Given the description of an element on the screen output the (x, y) to click on. 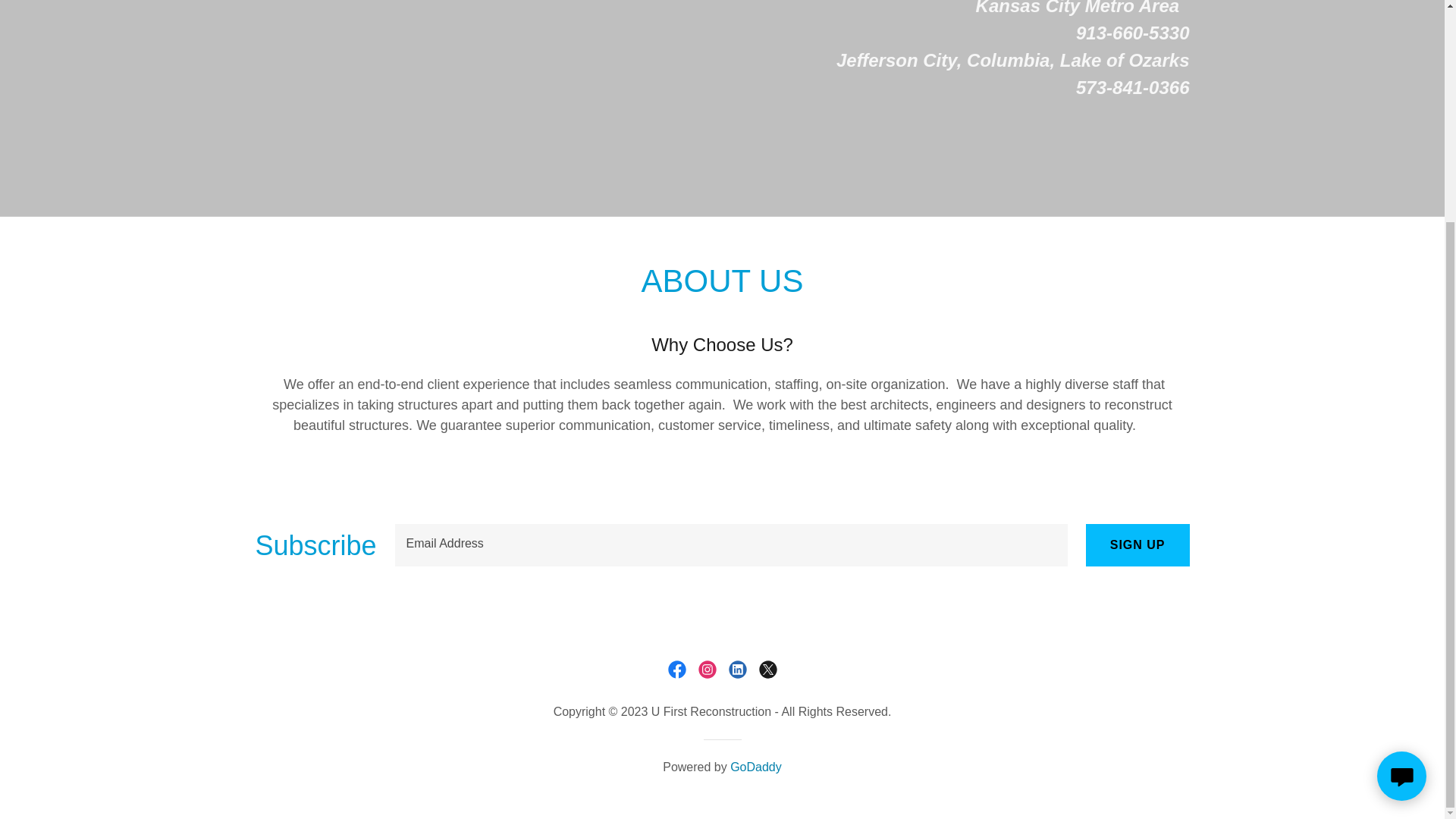
SIGN UP (1137, 545)
GoDaddy (755, 766)
